Given the description of an element on the screen output the (x, y) to click on. 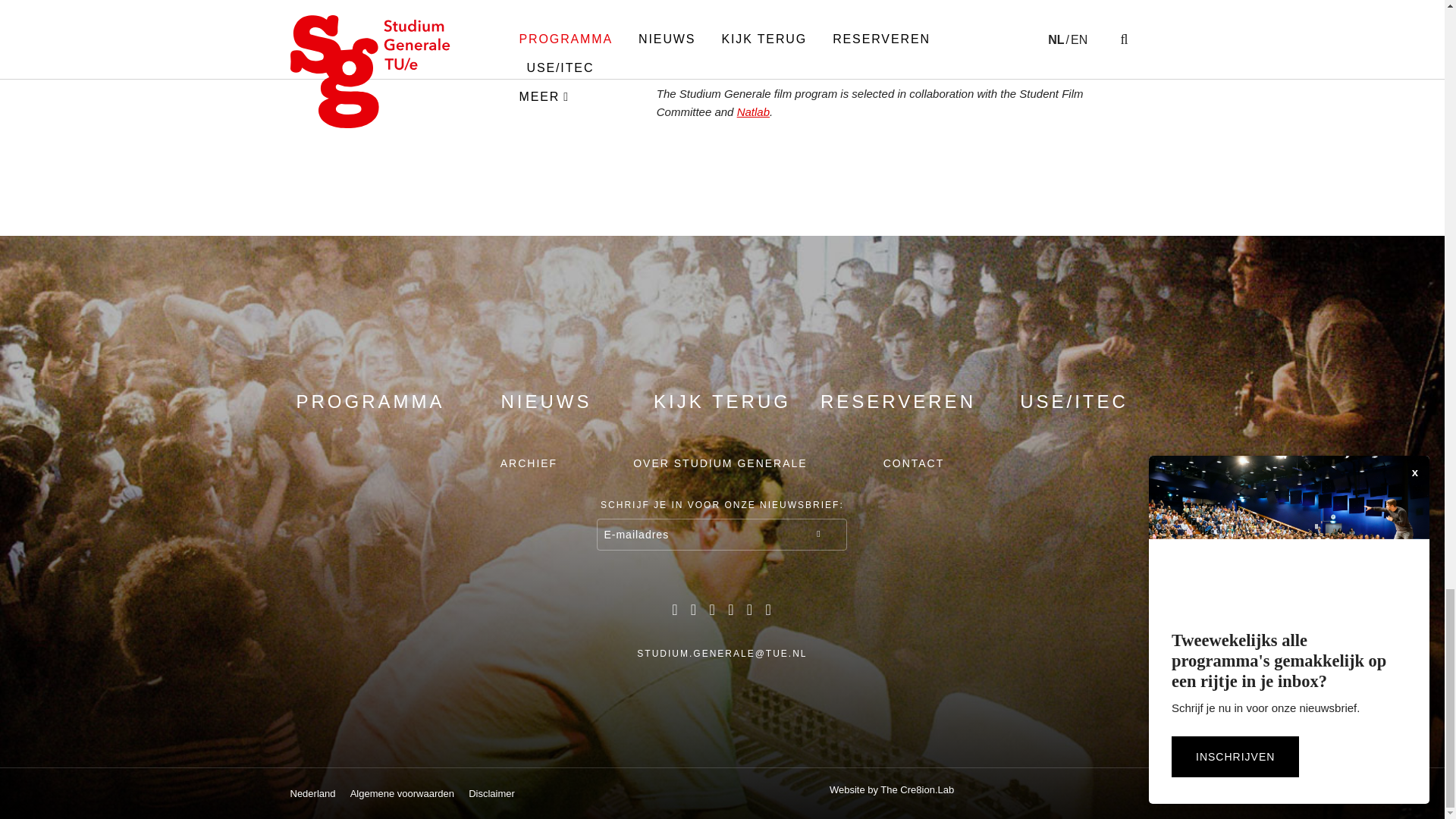
OVER STUDIUM GENERALE (719, 463)
NIEUWS (545, 401)
PROGRAMMA (369, 401)
ARCHIEF (528, 463)
Webdevelopment Den Bosch (891, 790)
RESERVEREN (898, 401)
Natlab (753, 111)
Technische Universiteit Eindhoven (1062, 790)
KIJK TERUG (721, 401)
CONTACT (913, 463)
